Given the description of an element on the screen output the (x, y) to click on. 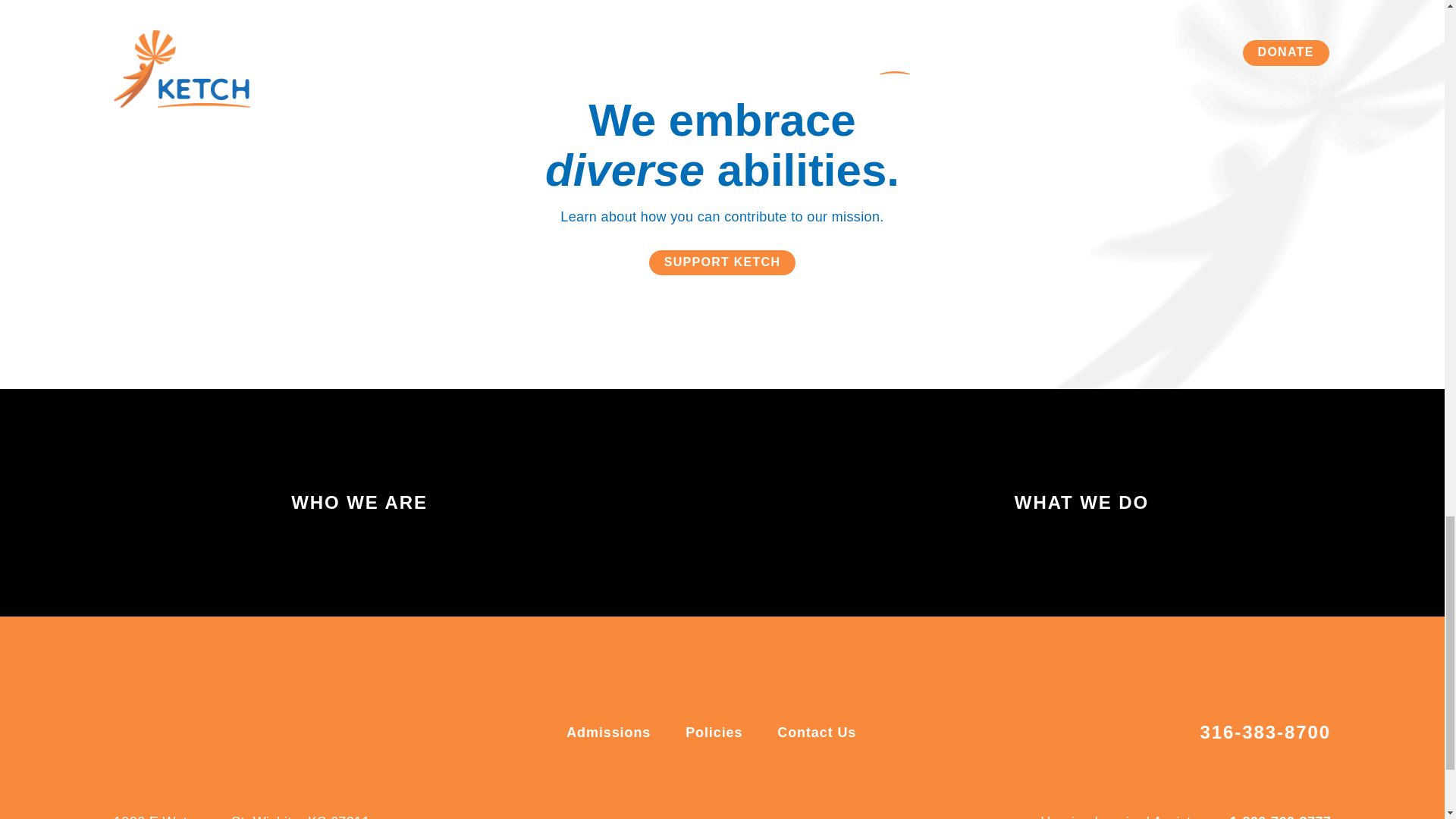
Admissions (610, 732)
KETCH on Twitter (744, 809)
Policies (715, 732)
SUPPORT KETCH (722, 262)
1006 E Waterman St, Wichita, KS 67211 (241, 812)
316-383-8700 (1264, 732)
KETCH on Facebook (699, 809)
Contact Us (815, 732)
